Given the description of an element on the screen output the (x, y) to click on. 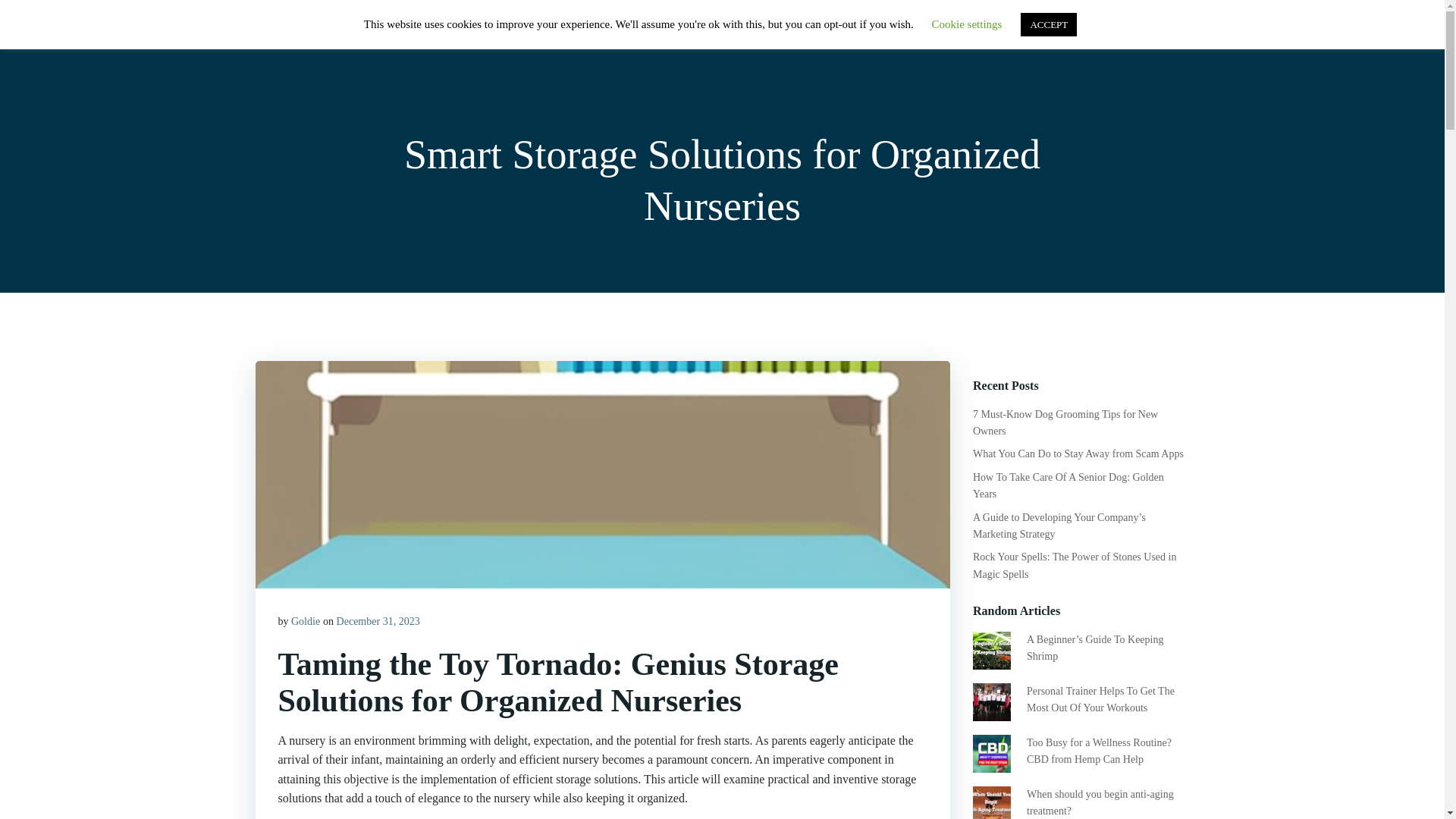
SHOP (942, 33)
December 31, 2023 (378, 621)
Colibri (859, 773)
ARTICLES (1014, 33)
Goldie (305, 621)
Rock Your Spells: The Power of Stones Used in Magic Spells (1074, 565)
ACCEPT (1048, 24)
Cookie settings (967, 24)
Personal Trainer Helps To Get The Most Out Of Your Workouts (1100, 699)
LOGIN (1088, 33)
How To Take Care Of A Senior Dog: Golden Years (1067, 485)
LEGAL (1155, 33)
When should you begin anti-aging treatment? (1099, 802)
7 Must-Know Dog Grooming Tips for New Owners (1064, 422)
HOME (879, 33)
